Given the description of an element on the screen output the (x, y) to click on. 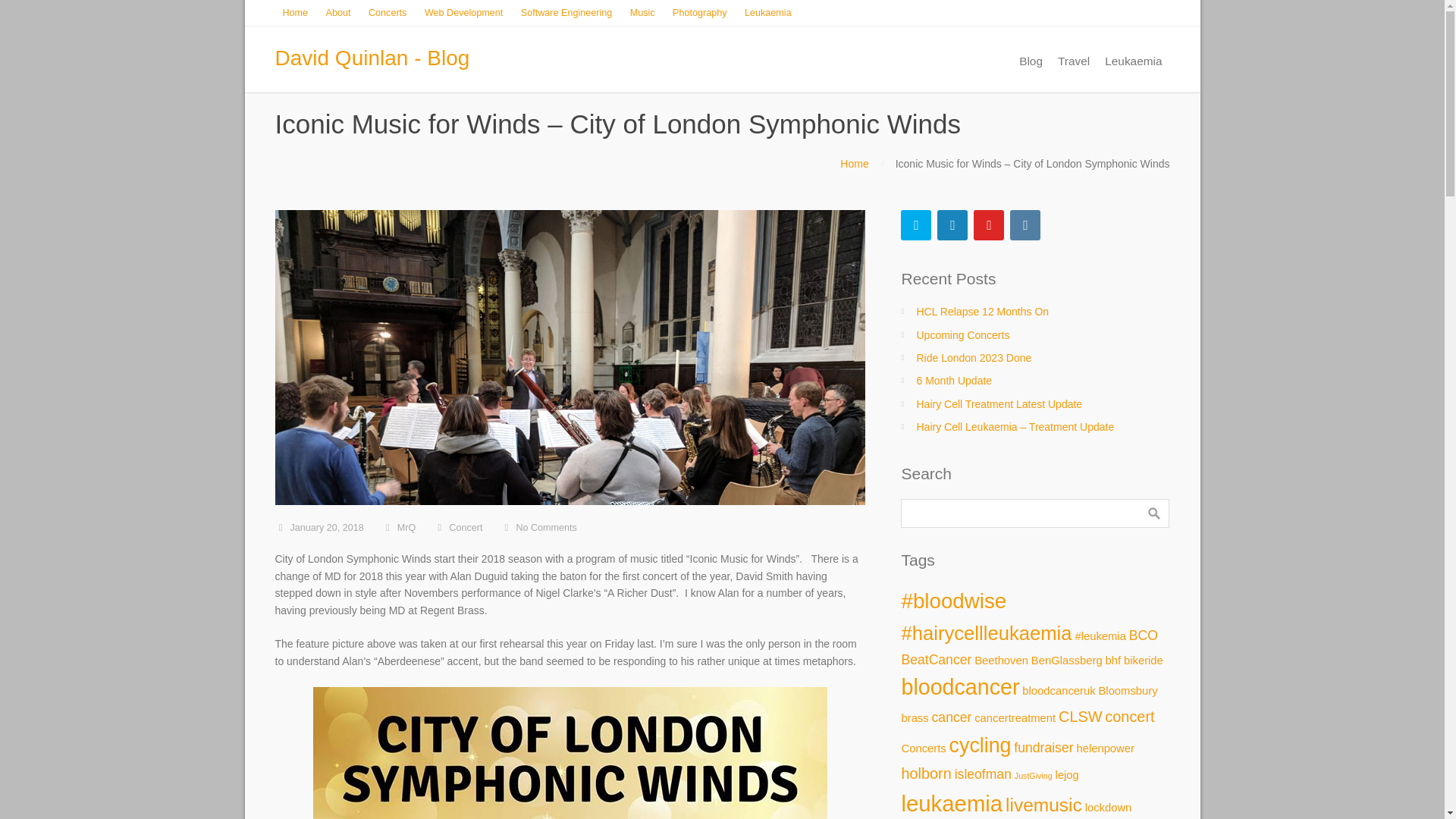
Concert (464, 527)
Home (295, 13)
6 Month Update (953, 380)
Hairy Cell Treatment Latest Update (998, 404)
Travel (1073, 60)
Leukaemia (767, 13)
LinkedIn (952, 224)
Upcoming Concerts (962, 335)
Search (1153, 512)
Leukaemia (1133, 60)
About (338, 13)
Ride London 2023 Done (972, 357)
HCL Relapse 12 Months On (981, 311)
YouTube (989, 224)
Software Engineering (566, 13)
